Given the description of an element on the screen output the (x, y) to click on. 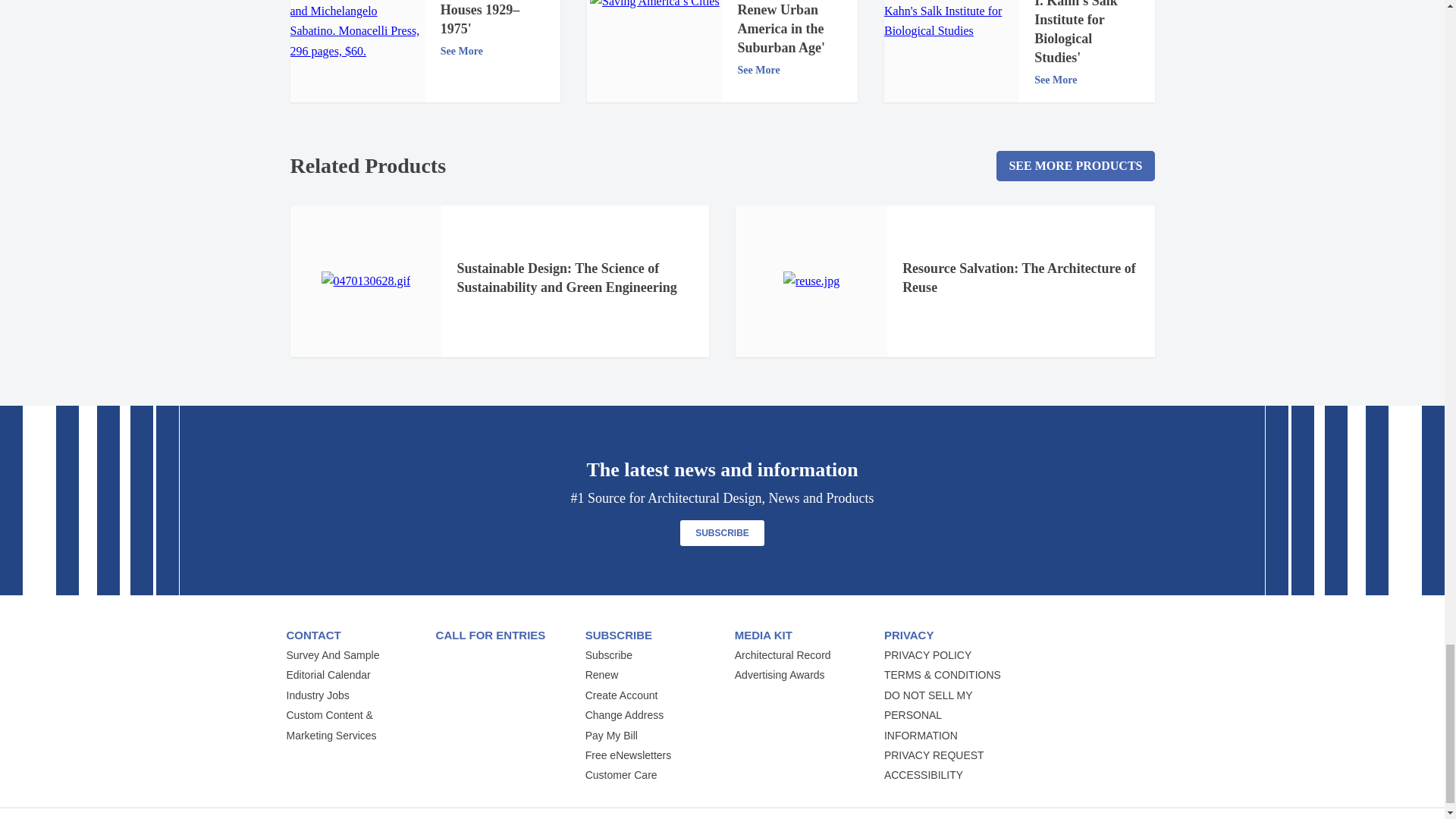
reuse.jpg (811, 281)
Modern in the Middle (357, 30)
0470130628.gif (365, 281)
